Given the description of an element on the screen output the (x, y) to click on. 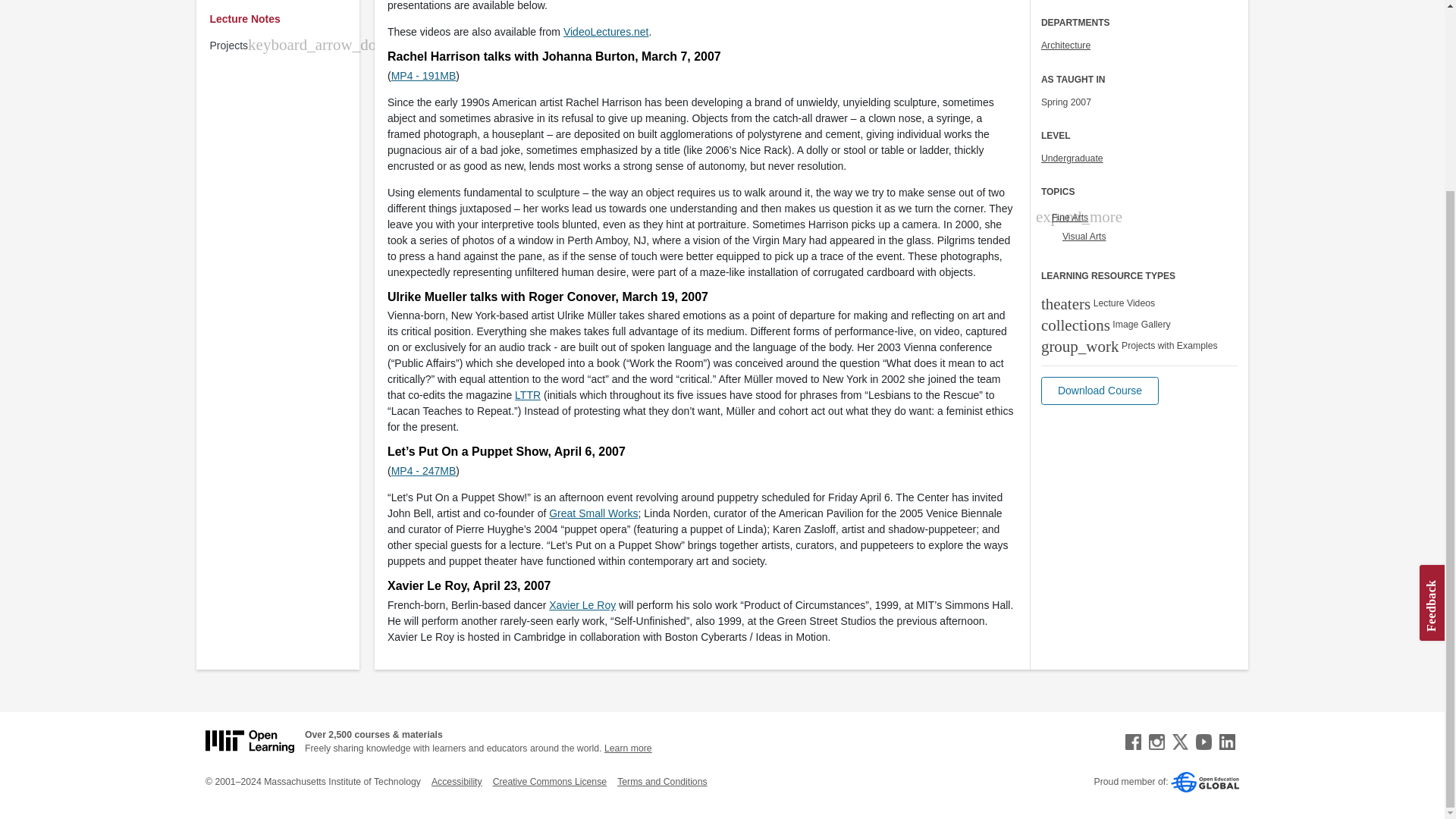
Lecture Notes (281, 18)
Readings (281, 2)
Projects (228, 45)
VideoLectures.net (606, 31)
